Given the description of an element on the screen output the (x, y) to click on. 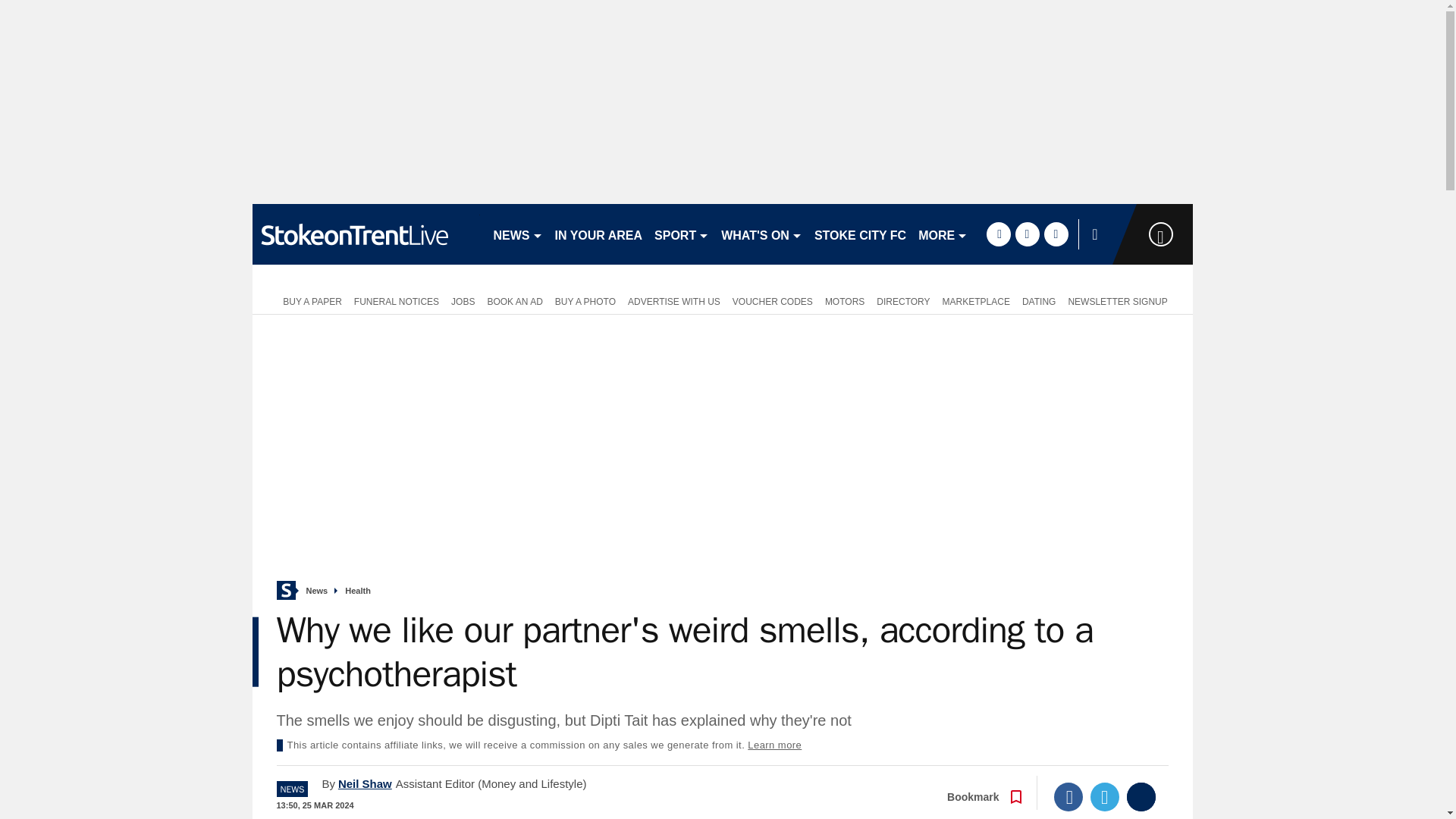
STOKE CITY FC (860, 233)
stokesentinel (365, 233)
MORE (943, 233)
NEWS (517, 233)
twitter (1026, 233)
IN YOUR AREA (598, 233)
facebook (997, 233)
SPORT (680, 233)
Facebook (1068, 796)
WHAT'S ON (761, 233)
Twitter (1104, 796)
instagram (1055, 233)
